Given the description of an element on the screen output the (x, y) to click on. 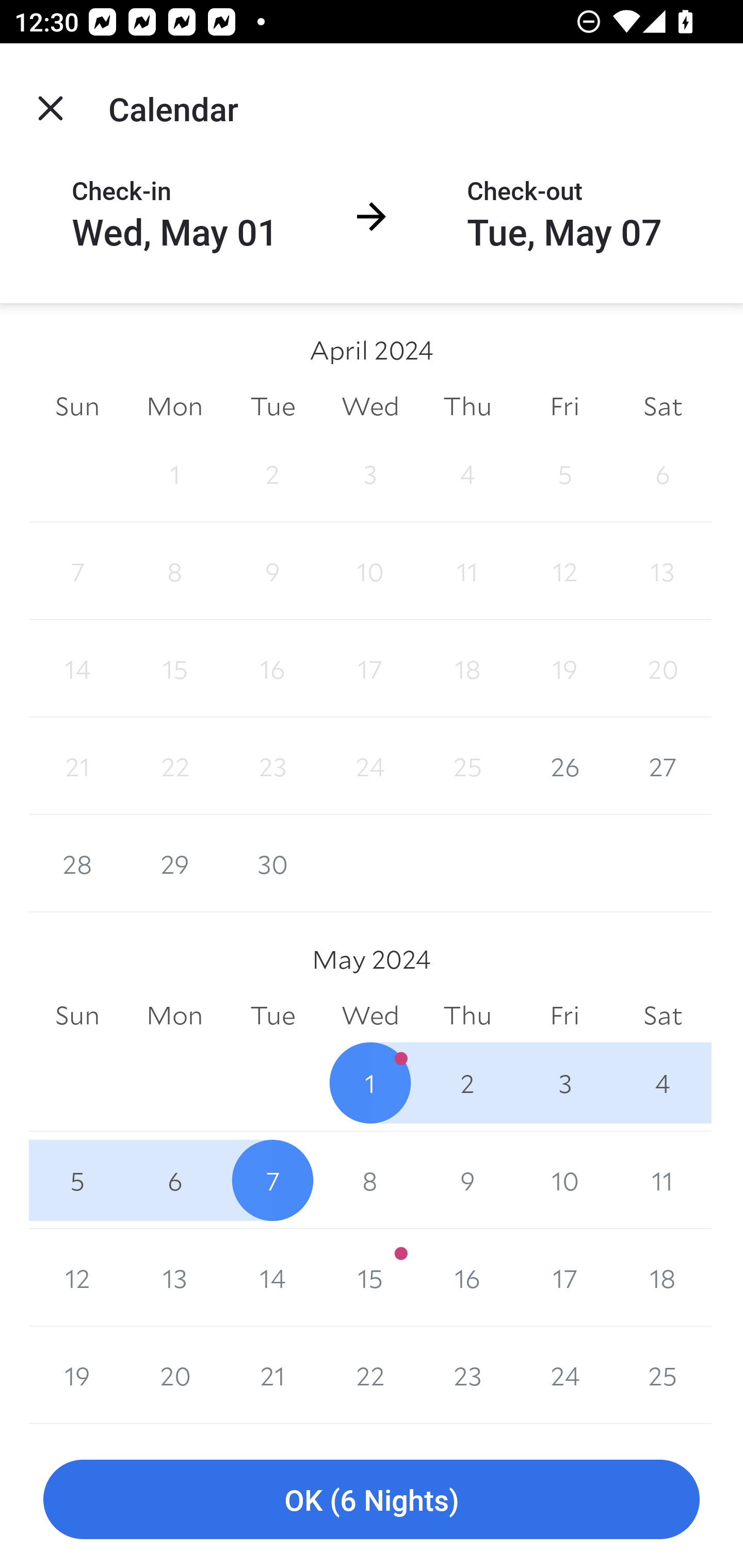
Sun (77, 405)
Mon (174, 405)
Tue (272, 405)
Wed (370, 405)
Thu (467, 405)
Fri (564, 405)
Sat (662, 405)
1 1 April 2024 (174, 473)
2 2 April 2024 (272, 473)
3 3 April 2024 (370, 473)
4 4 April 2024 (467, 473)
5 5 April 2024 (564, 473)
6 6 April 2024 (662, 473)
7 7 April 2024 (77, 570)
8 8 April 2024 (174, 570)
9 9 April 2024 (272, 570)
10 10 April 2024 (370, 570)
11 11 April 2024 (467, 570)
12 12 April 2024 (564, 570)
13 13 April 2024 (662, 570)
14 14 April 2024 (77, 668)
15 15 April 2024 (174, 668)
16 16 April 2024 (272, 668)
17 17 April 2024 (370, 668)
18 18 April 2024 (467, 668)
19 19 April 2024 (564, 668)
20 20 April 2024 (662, 668)
21 21 April 2024 (77, 766)
22 22 April 2024 (174, 766)
23 23 April 2024 (272, 766)
24 24 April 2024 (370, 766)
25 25 April 2024 (467, 766)
26 26 April 2024 (564, 766)
27 27 April 2024 (662, 766)
28 28 April 2024 (77, 863)
29 29 April 2024 (174, 863)
30 30 April 2024 (272, 863)
Sun (77, 1015)
Mon (174, 1015)
Tue (272, 1015)
Wed (370, 1015)
Thu (467, 1015)
Fri (564, 1015)
Sat (662, 1015)
1 1 May 2024 (370, 1083)
2 2 May 2024 (467, 1083)
3 3 May 2024 (564, 1083)
4 4 May 2024 (662, 1083)
5 5 May 2024 (77, 1180)
6 6 May 2024 (174, 1180)
7 7 May 2024 (272, 1180)
8 8 May 2024 (370, 1180)
9 9 May 2024 (467, 1180)
10 10 May 2024 (564, 1180)
11 11 May 2024 (662, 1180)
12 12 May 2024 (77, 1277)
13 13 May 2024 (174, 1277)
14 14 May 2024 (272, 1277)
15 15 May 2024 (370, 1277)
16 16 May 2024 (467, 1277)
17 17 May 2024 (564, 1277)
18 18 May 2024 (662, 1277)
19 19 May 2024 (77, 1374)
20 20 May 2024 (174, 1374)
21 21 May 2024 (272, 1374)
22 22 May 2024 (370, 1374)
23 23 May 2024 (467, 1374)
24 24 May 2024 (564, 1374)
25 25 May 2024 (662, 1374)
OK (6 Nights) (371, 1499)
